Given the description of an element on the screen output the (x, y) to click on. 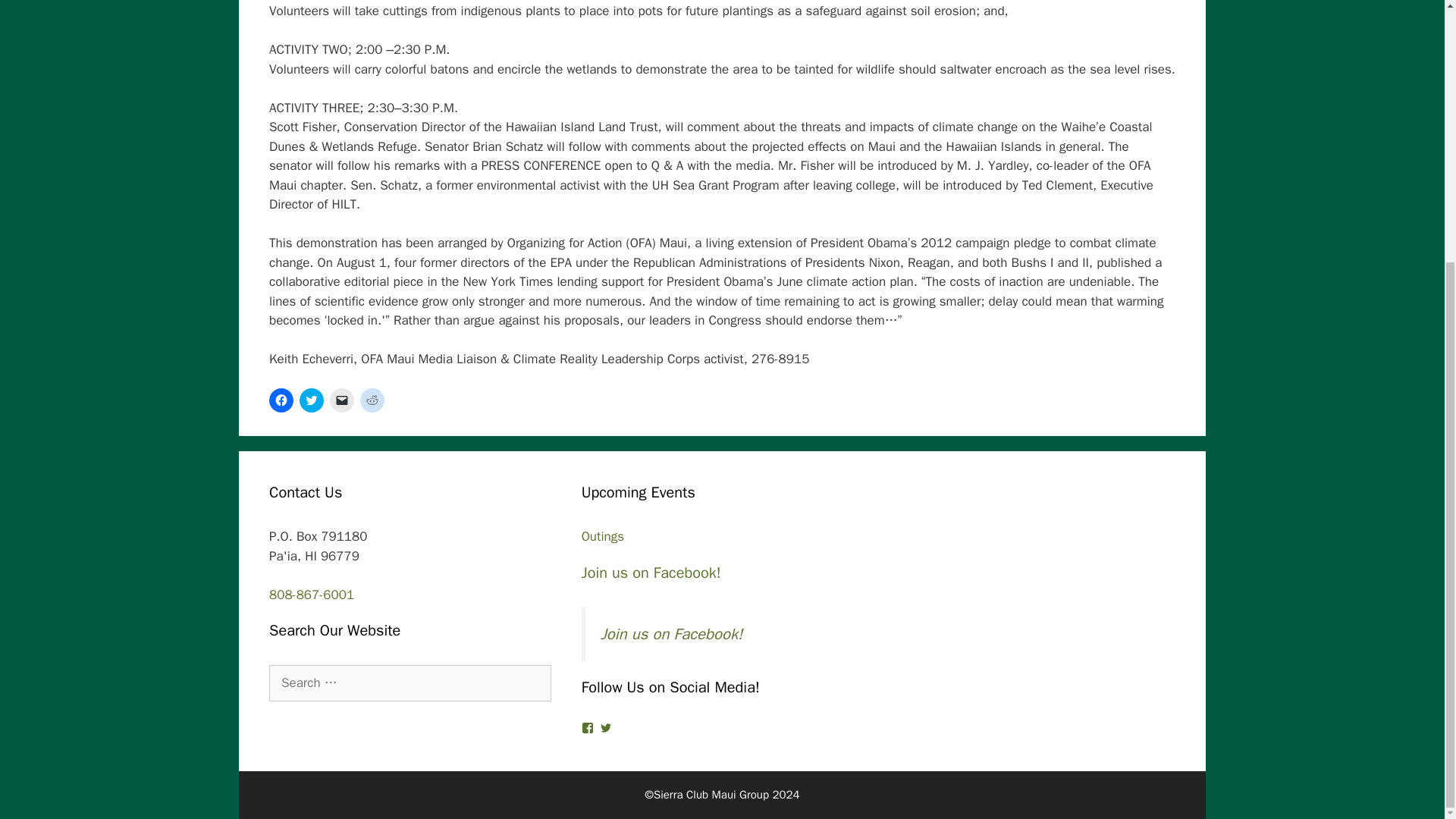
Click to share on Reddit (371, 400)
Click to email a link to a friend (341, 400)
Search for: (410, 683)
Click to share on Twitter (311, 400)
Click to share on Facebook (281, 400)
